Given the description of an element on the screen output the (x, y) to click on. 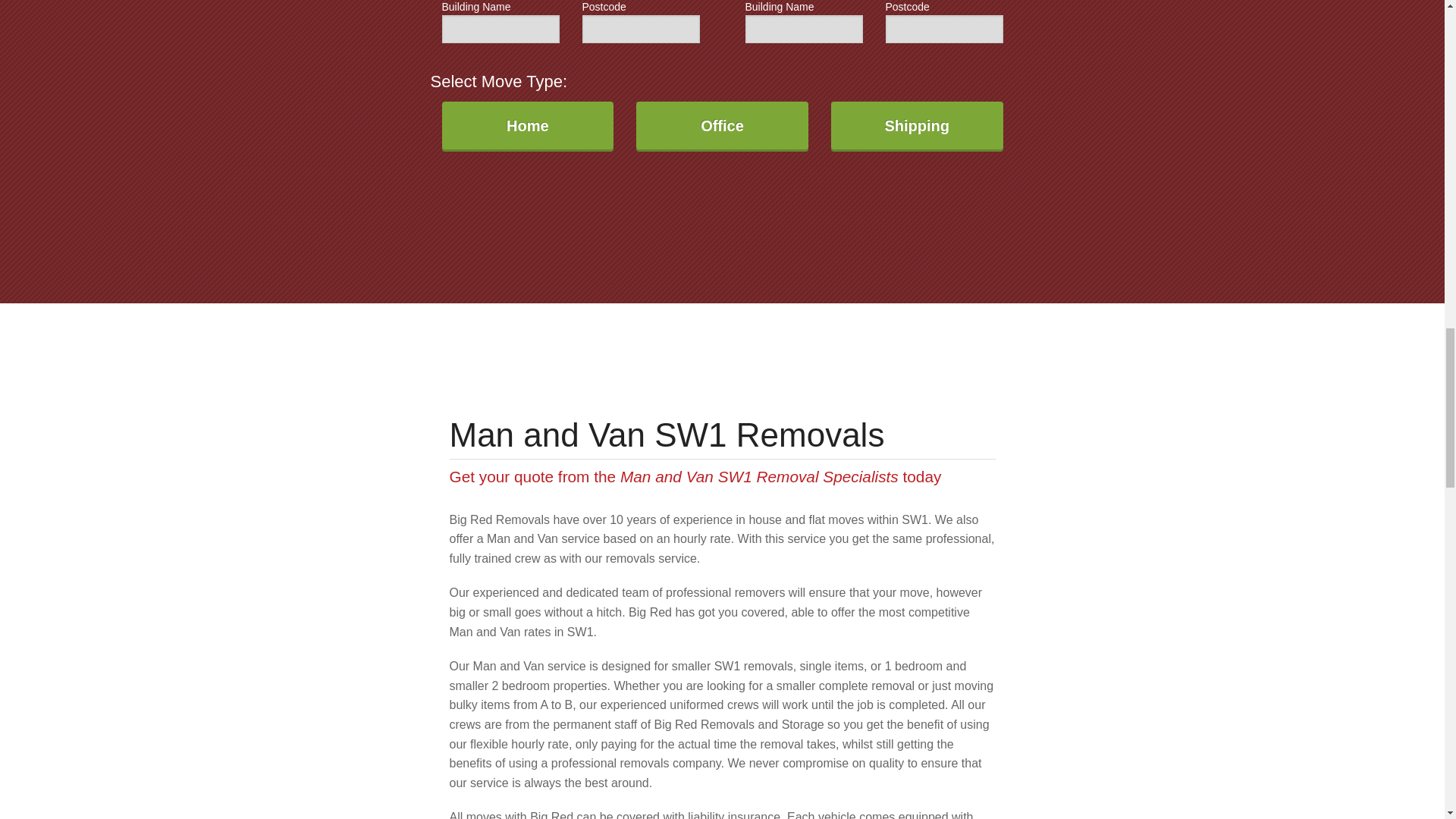
Office (722, 126)
Shipping (917, 126)
Home (526, 126)
